Given the description of an element on the screen output the (x, y) to click on. 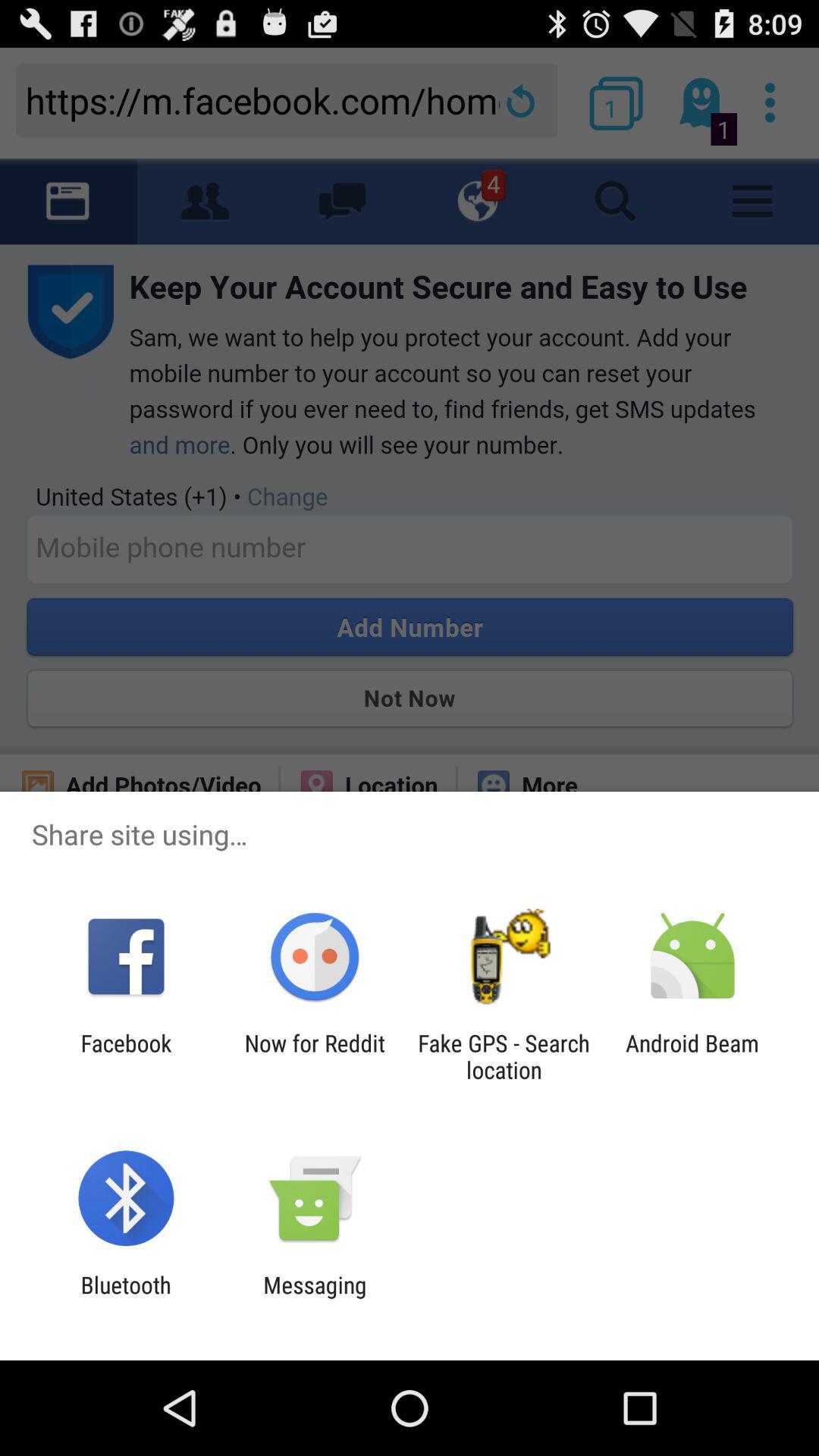
swipe to android beam app (692, 1056)
